Given the description of an element on the screen output the (x, y) to click on. 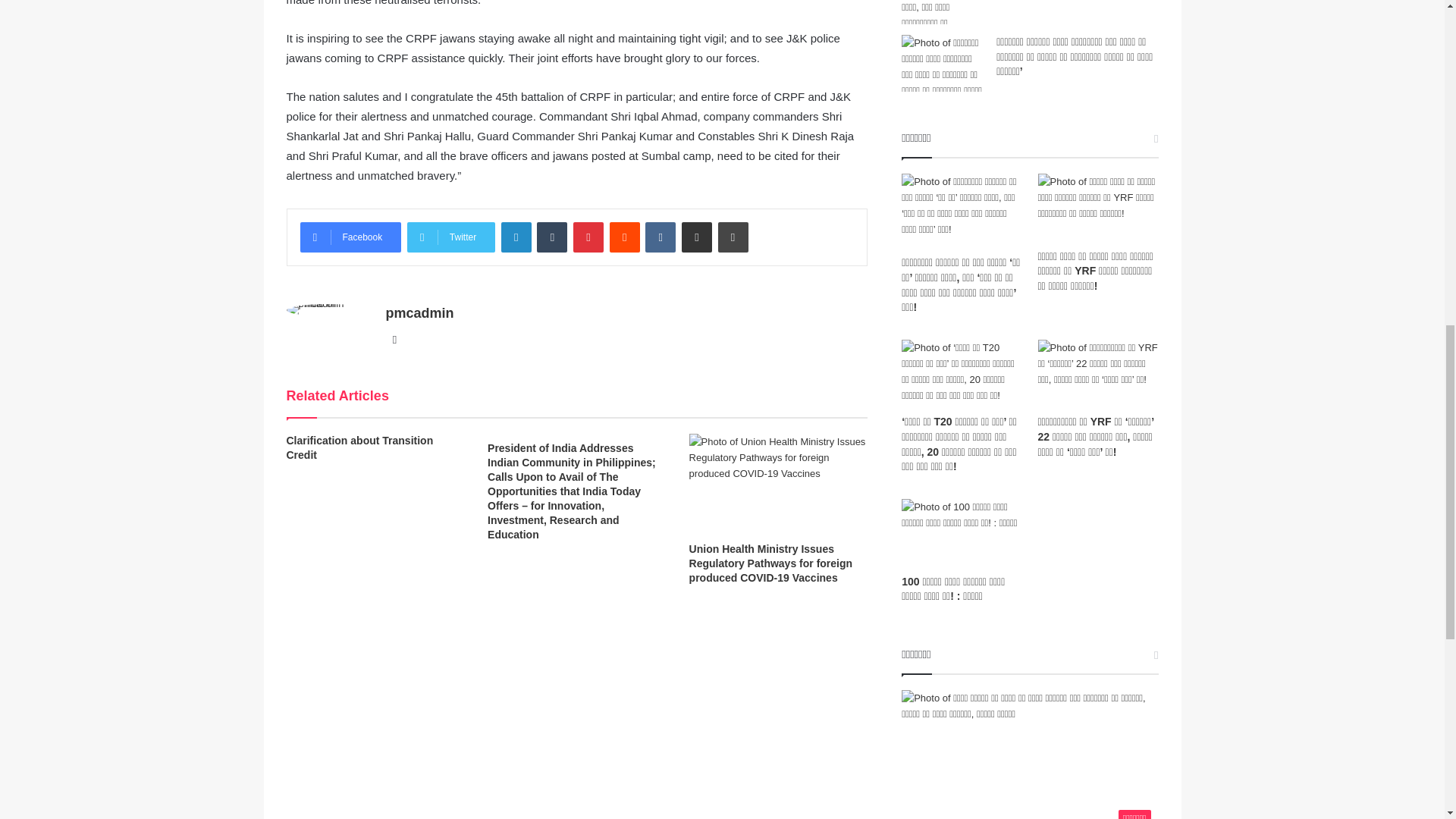
Website (394, 339)
Print (732, 236)
Tumblr (552, 236)
Reddit (625, 236)
VKontakte (660, 236)
pmcadmin (418, 313)
Twitter (451, 236)
Tumblr (552, 236)
LinkedIn (515, 236)
Twitter (451, 236)
Facebook (350, 236)
Share via Email (696, 236)
Reddit (625, 236)
Share via Email (696, 236)
VKontakte (660, 236)
